Given the description of an element on the screen output the (x, y) to click on. 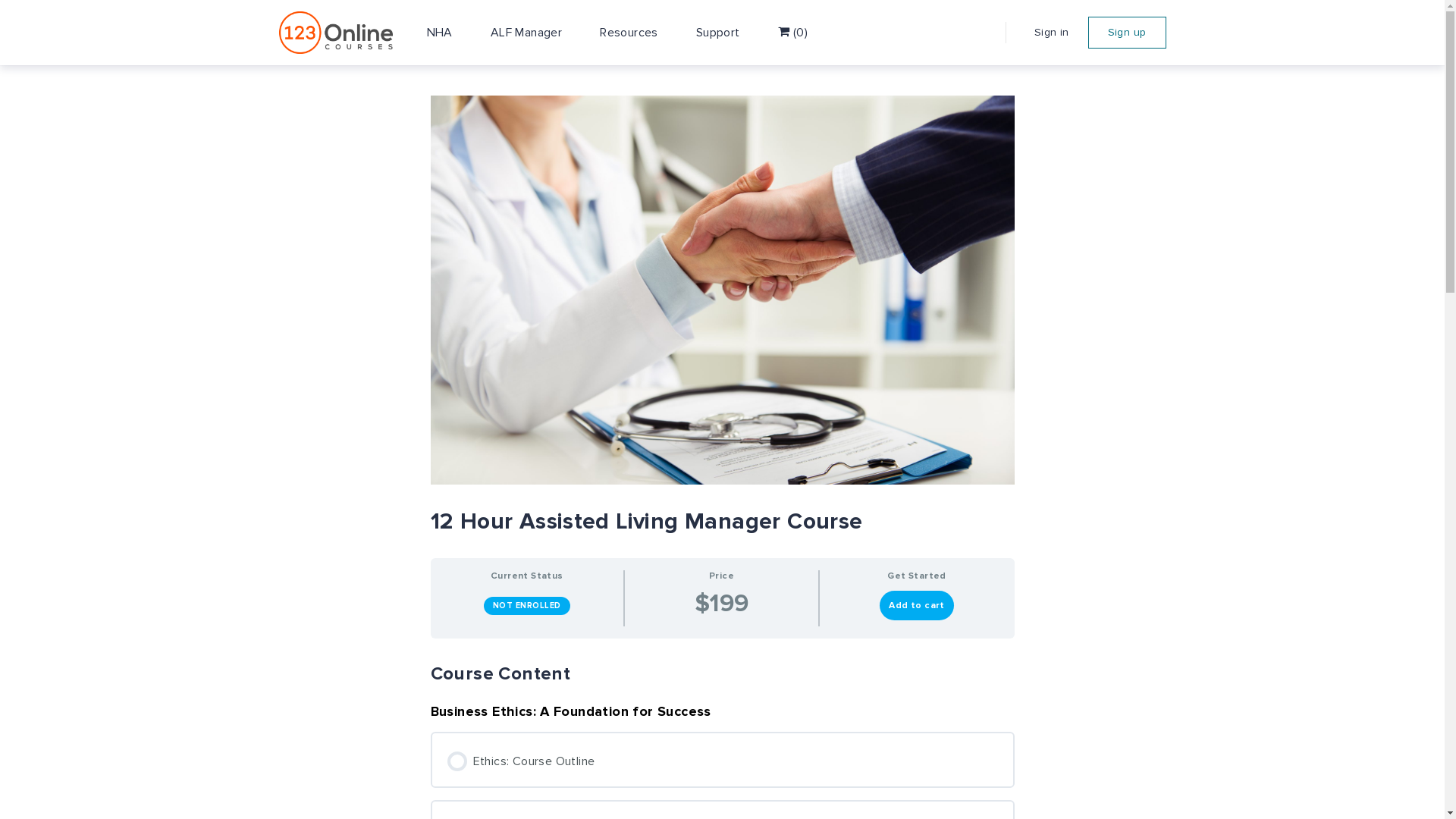
Sign up Element type: text (1127, 32)
Sign in Element type: text (1051, 32)
NHA Element type: text (439, 32)
Ethics: Course Outline Element type: text (722, 759)
(
0
) Element type: text (793, 32)
Add to cart Element type: text (916, 605)
ALF Manager Element type: text (525, 32)
Resources Element type: text (628, 32)
Support Element type: text (718, 32)
